Given the description of an element on the screen output the (x, y) to click on. 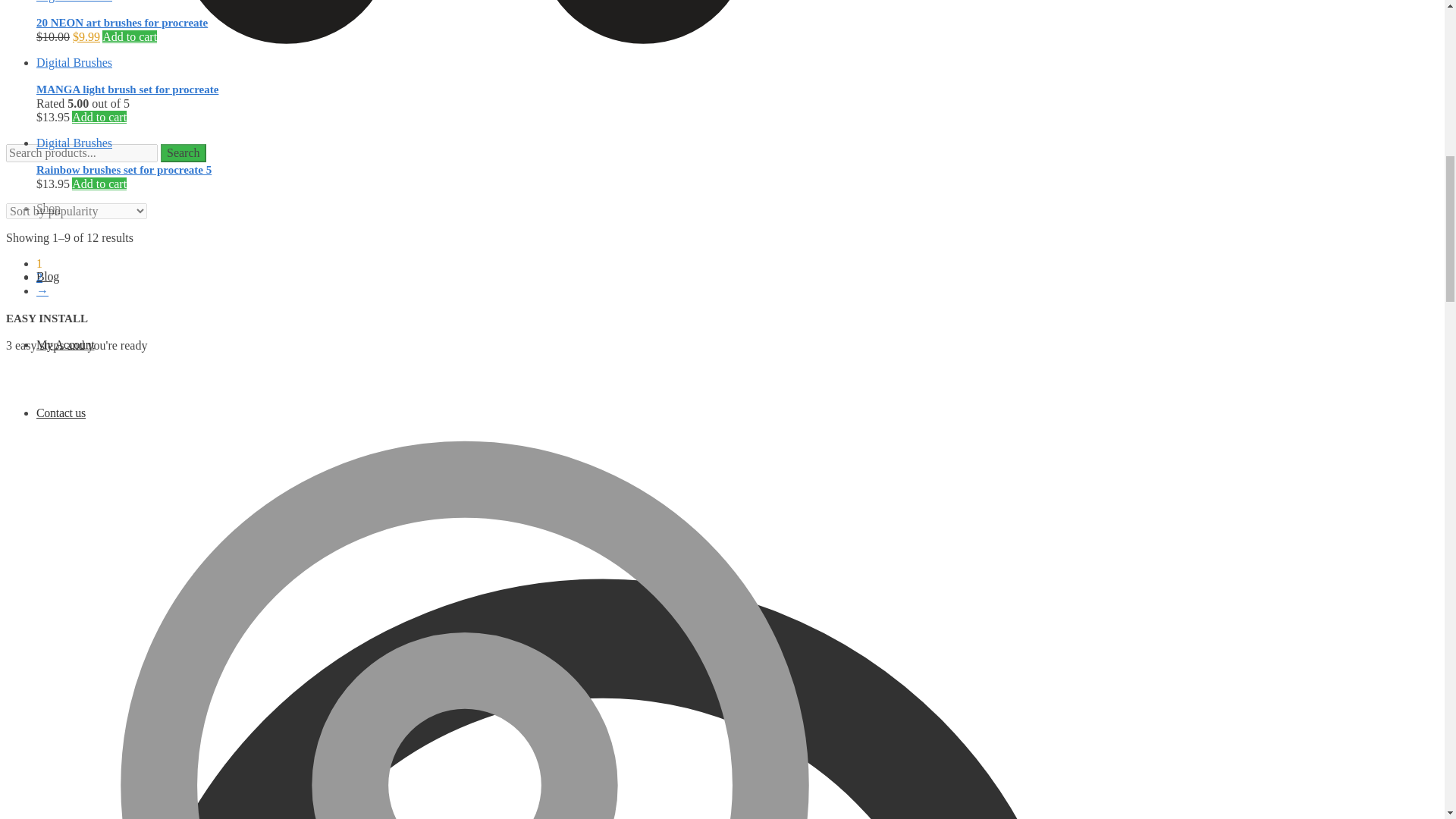
My Account (65, 344)
Blog (47, 276)
View your shopping cart (464, 65)
Search (183, 153)
Shop (48, 207)
Contact us (60, 412)
